Given the description of an element on the screen output the (x, y) to click on. 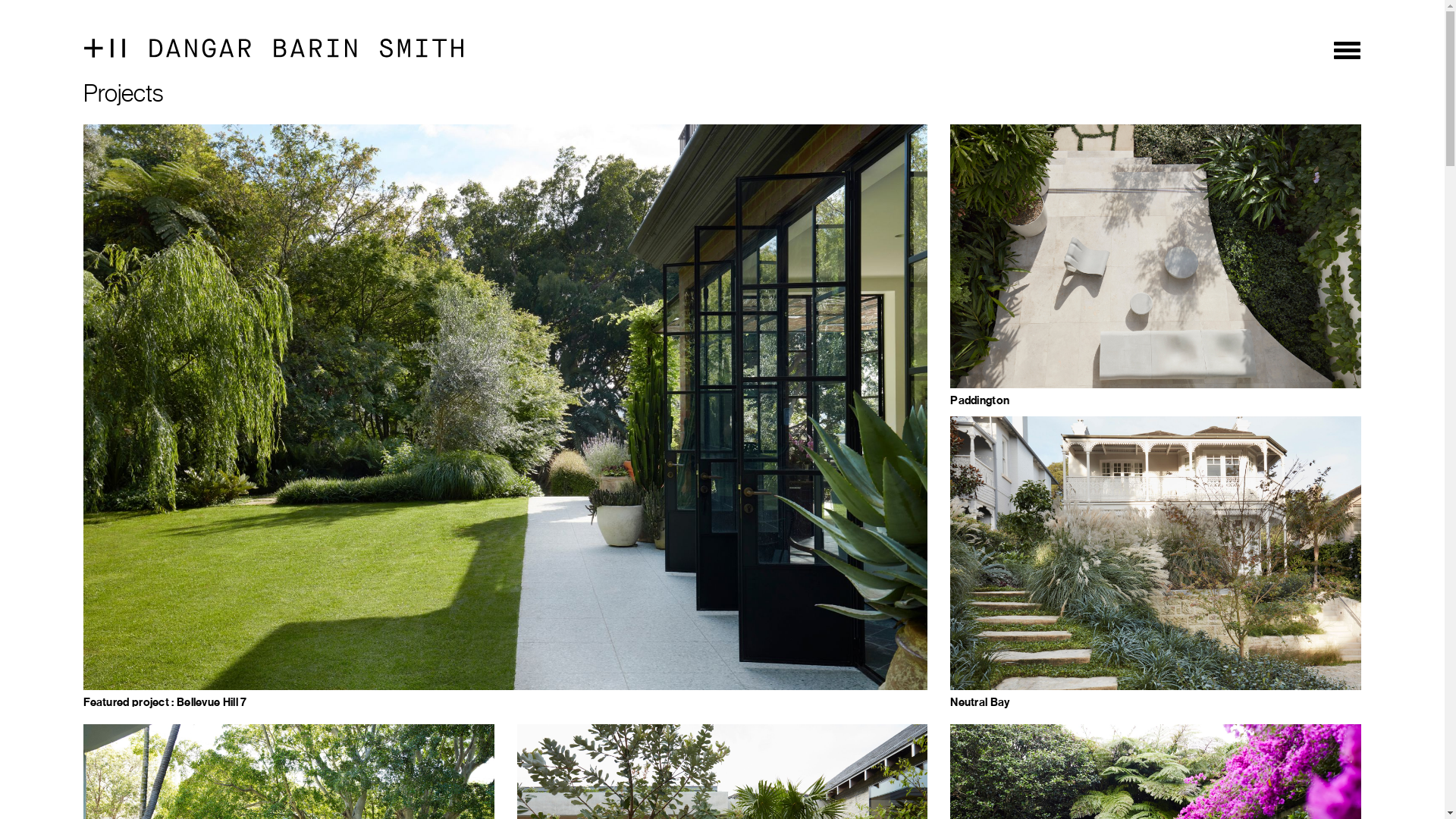
dangar-barin-smith-logo Element type: text (273, 50)
Paddington Element type: text (1155, 330)
Toggle navigation Element type: text (1346, 50)
Neutral Bay Element type: text (1155, 628)
Featured project : Bellevue Hill 7 Element type: text (505, 556)
